Given the description of an element on the screen output the (x, y) to click on. 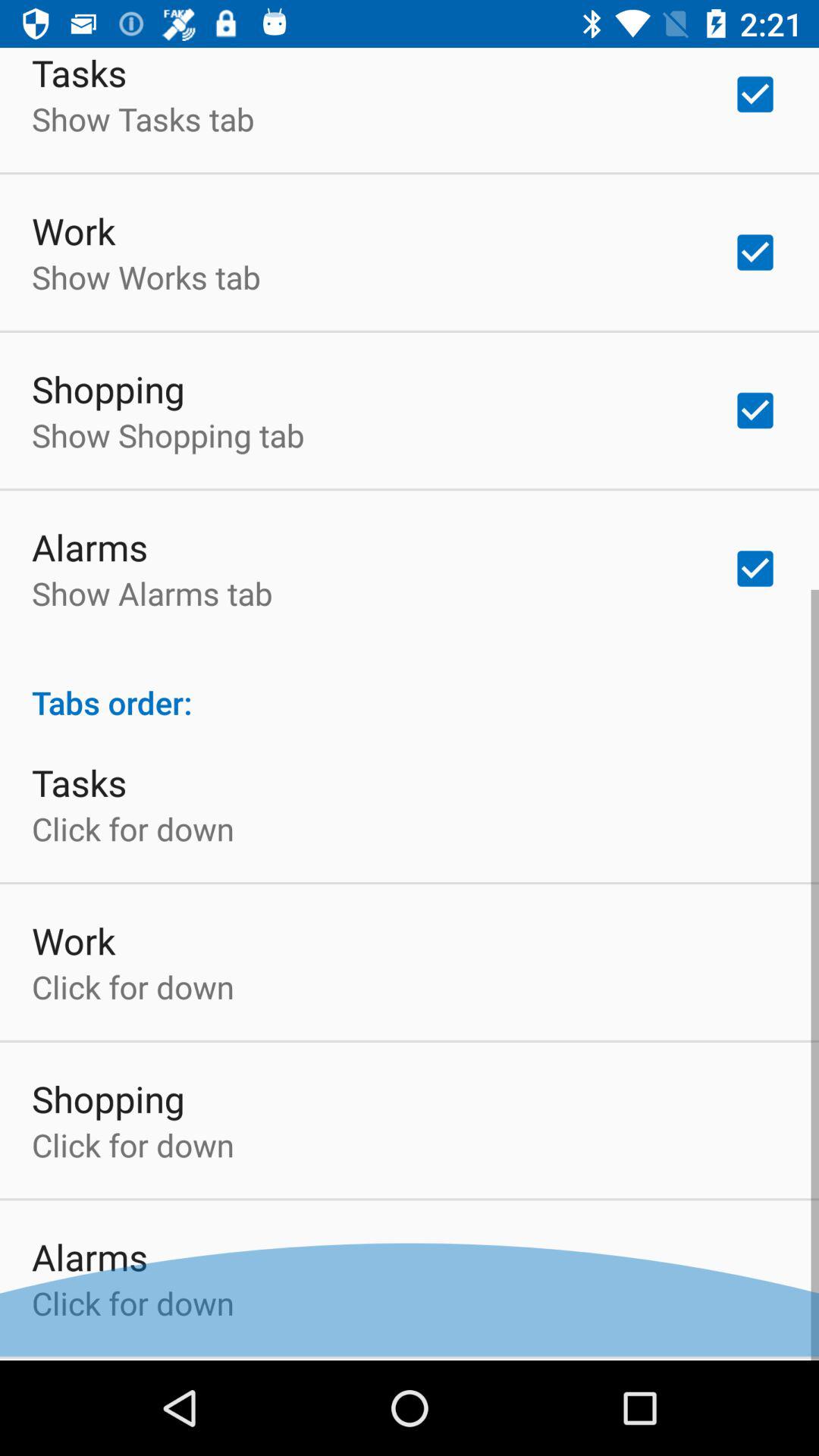
choose icon above tasks (409, 690)
